Given the description of an element on the screen output the (x, y) to click on. 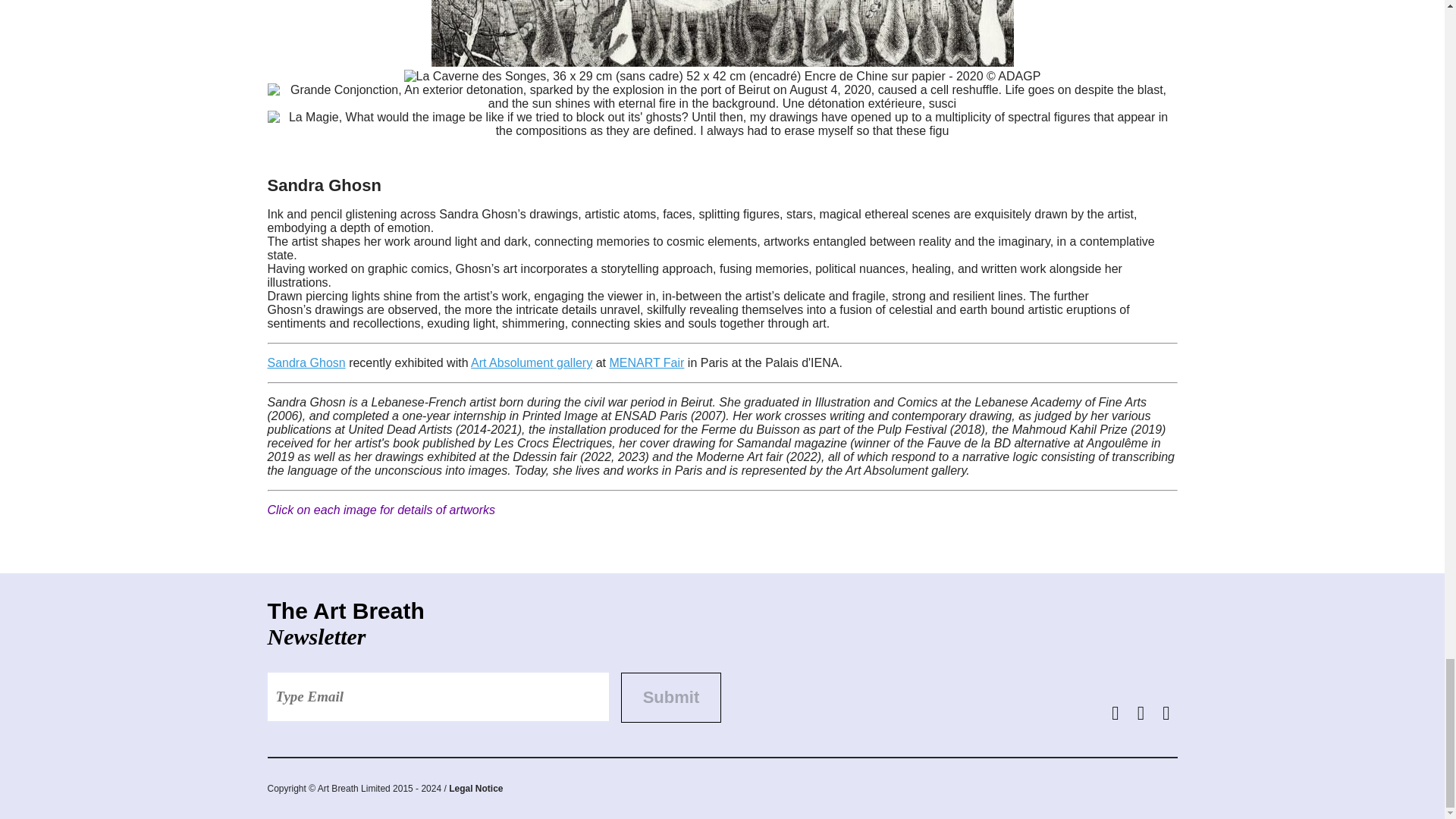
Art Absolument gallery (531, 362)
Legal Notice (475, 787)
Sandra Ghosn (305, 362)
Submit (670, 697)
Submit (670, 697)
MENART Fair (646, 362)
